Given the description of an element on the screen output the (x, y) to click on. 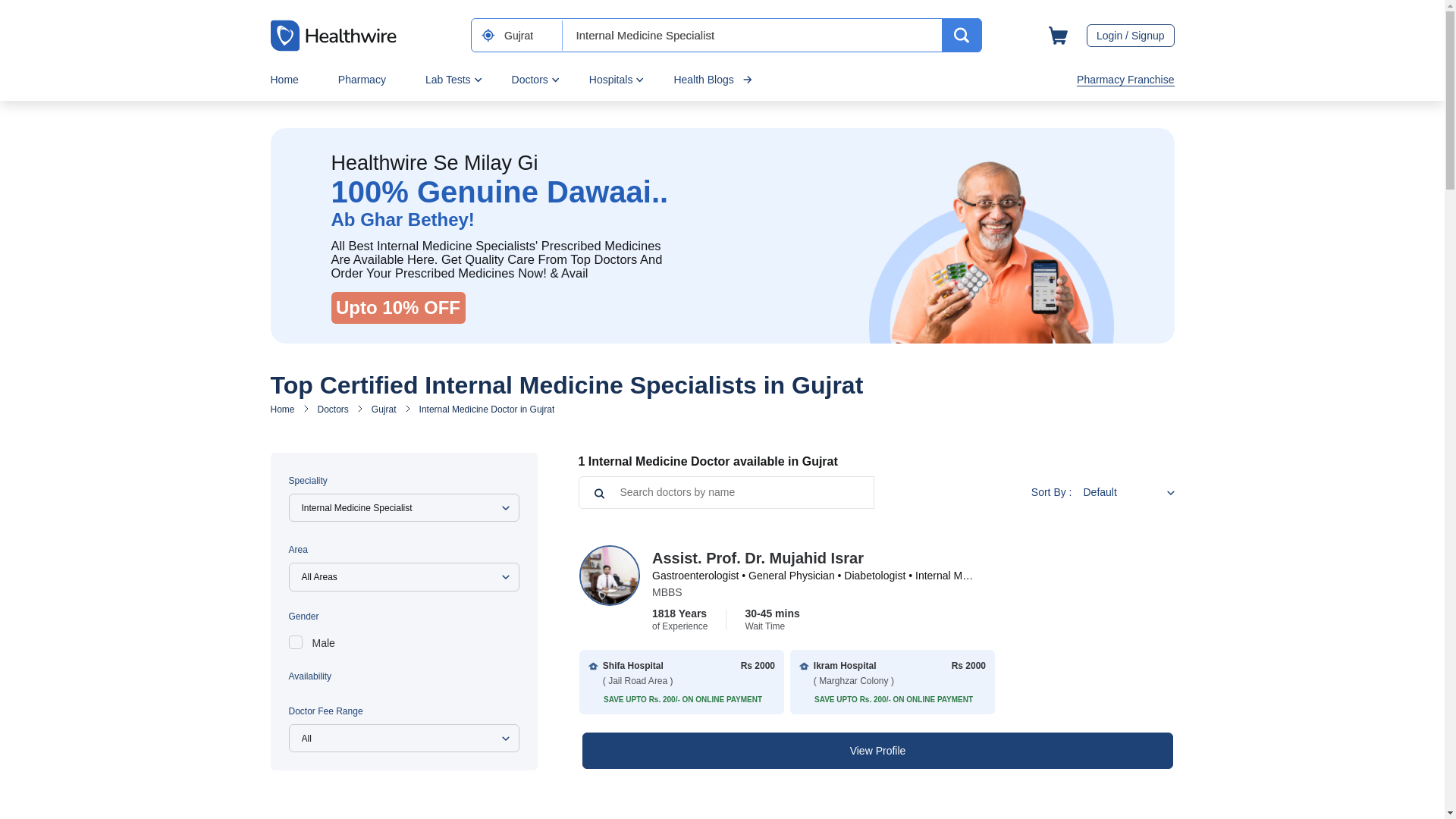
Pharmacy (361, 79)
Doctors (530, 79)
Internal Medicine Specialist (754, 35)
Gujrat (527, 34)
Internal Medicine Specialist (754, 35)
Doctors in Pakistan (333, 409)
Doctors in Gujrat (383, 409)
Home (283, 79)
Internal Medicine Specialist (754, 35)
Lab Tests (447, 79)
Gujrat (527, 34)
Gujrat (527, 34)
Internal Medicine Specialist (754, 35)
Gujrat (527, 34)
